Given the description of an element on the screen output the (x, y) to click on. 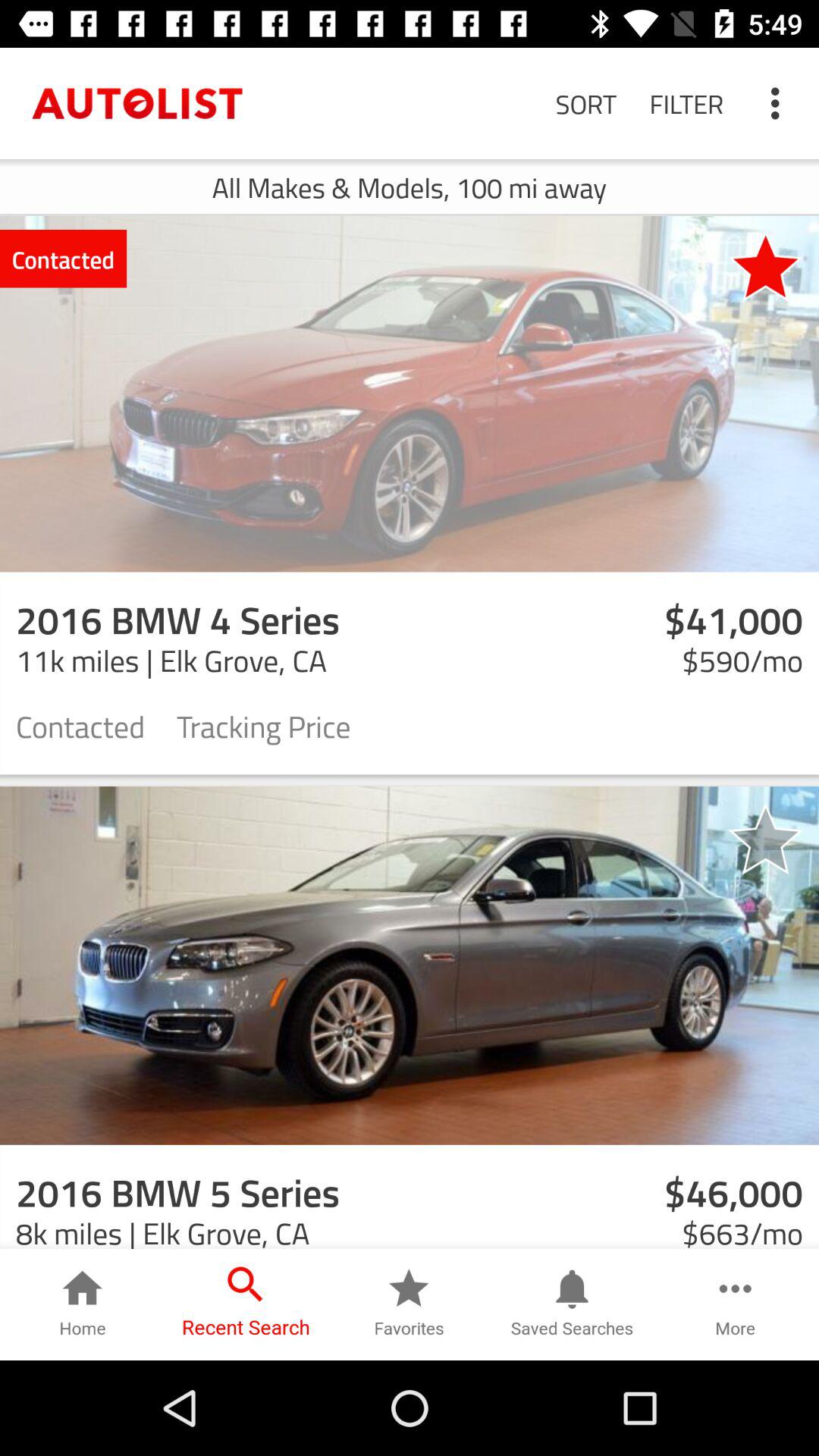
flip to the filter item (686, 103)
